Given the description of an element on the screen output the (x, y) to click on. 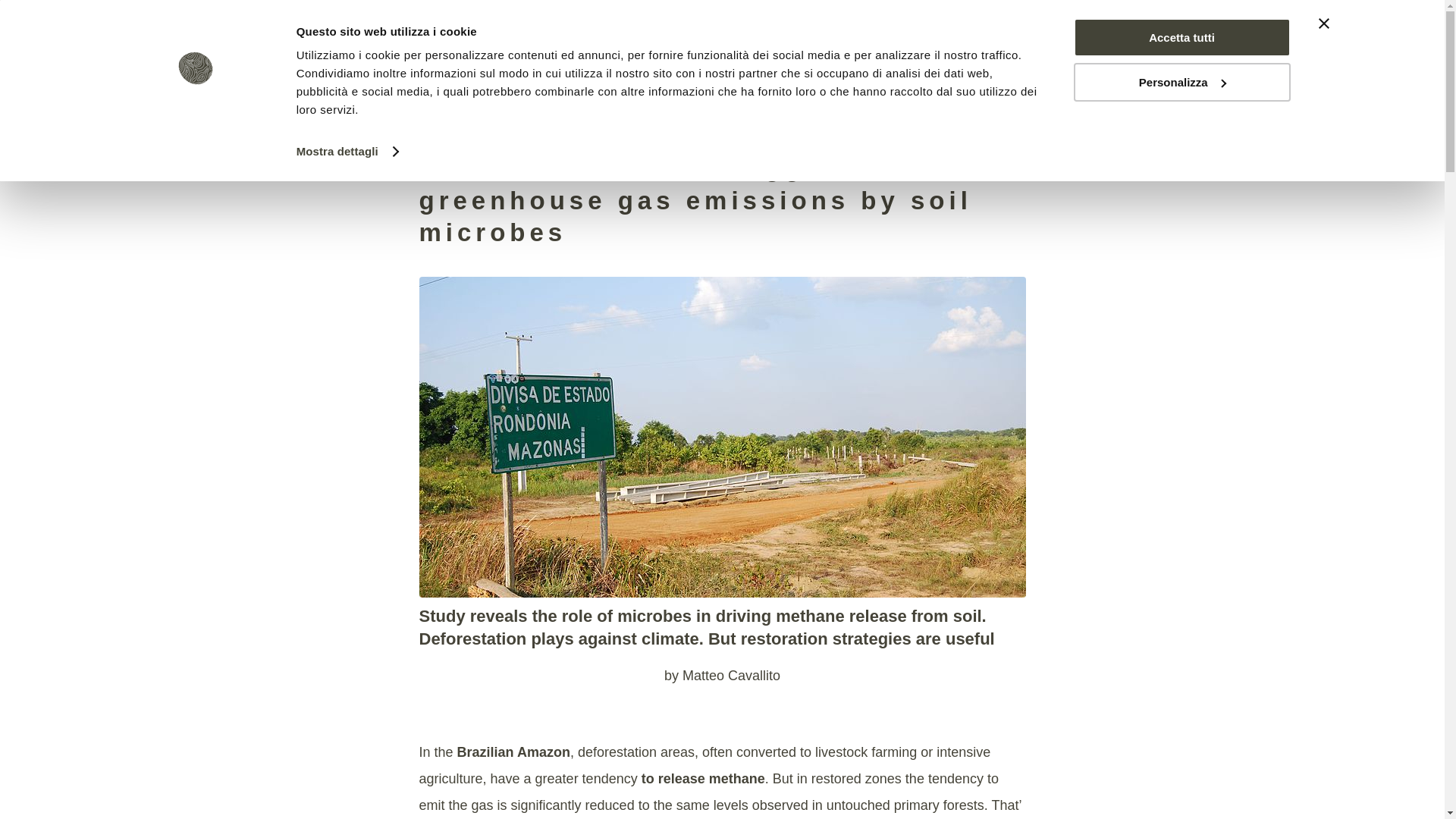
Mostra dettagli (347, 151)
